Given the description of an element on the screen output the (x, y) to click on. 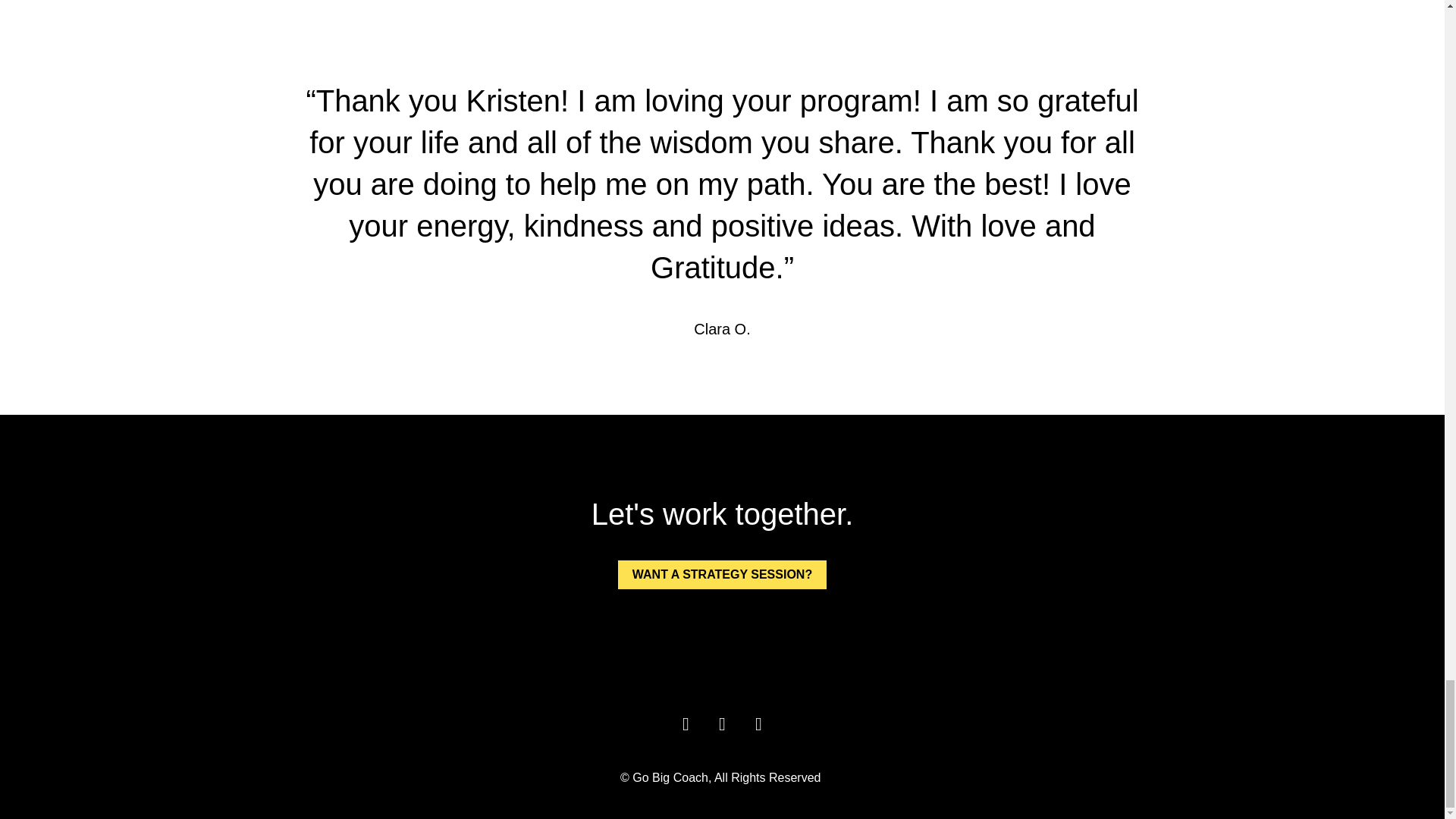
WANT A STRATEGY SESSION? (722, 574)
Share on Youtube (757, 723)
Share on Instagram (721, 723)
Share on Facebook (684, 723)
